Given the description of an element on the screen output the (x, y) to click on. 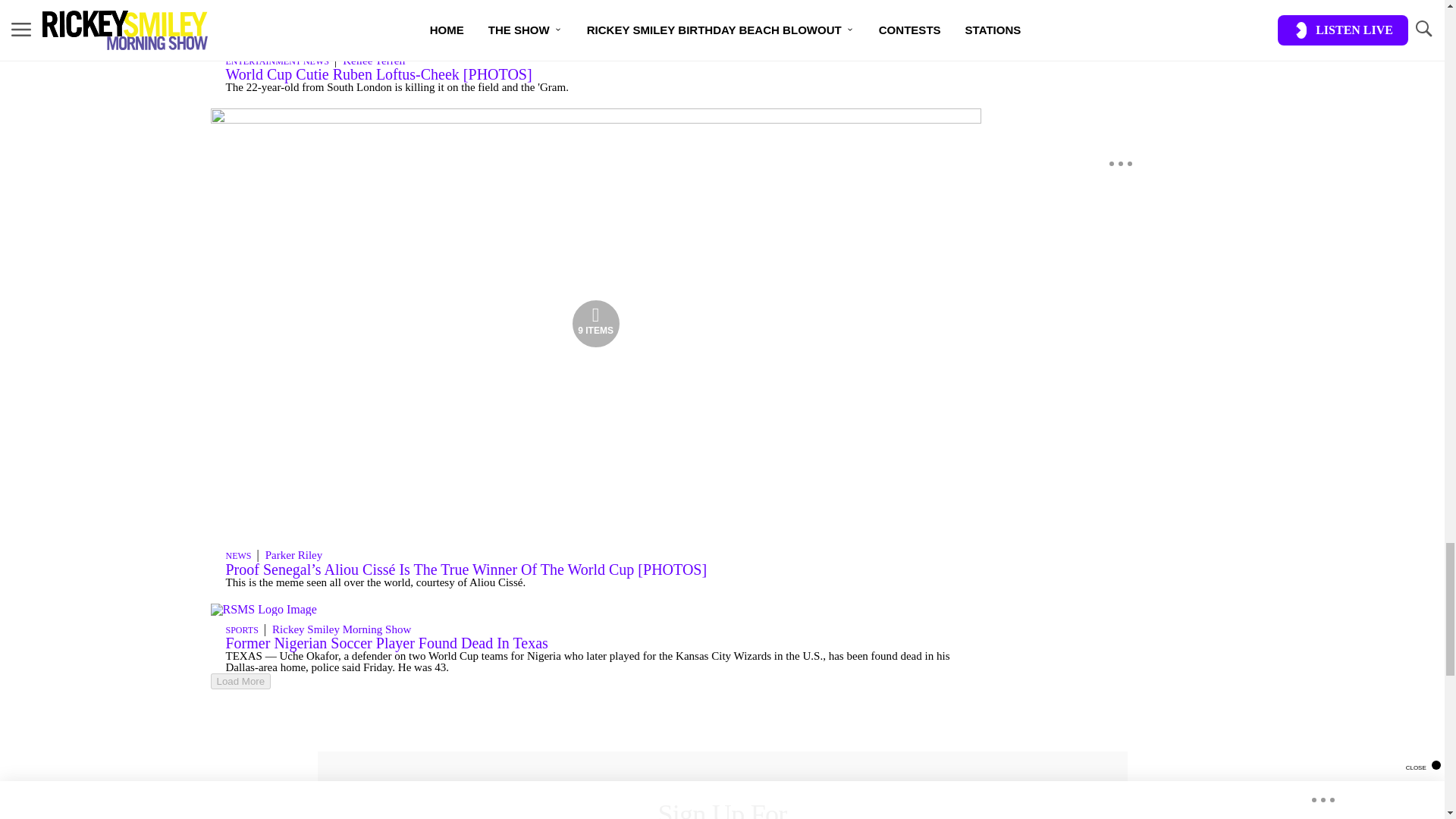
Load More (596, 681)
Load More (240, 681)
ENTERTAINMENT NEWS (277, 61)
Media Playlist (596, 323)
